Given the description of an element on the screen output the (x, y) to click on. 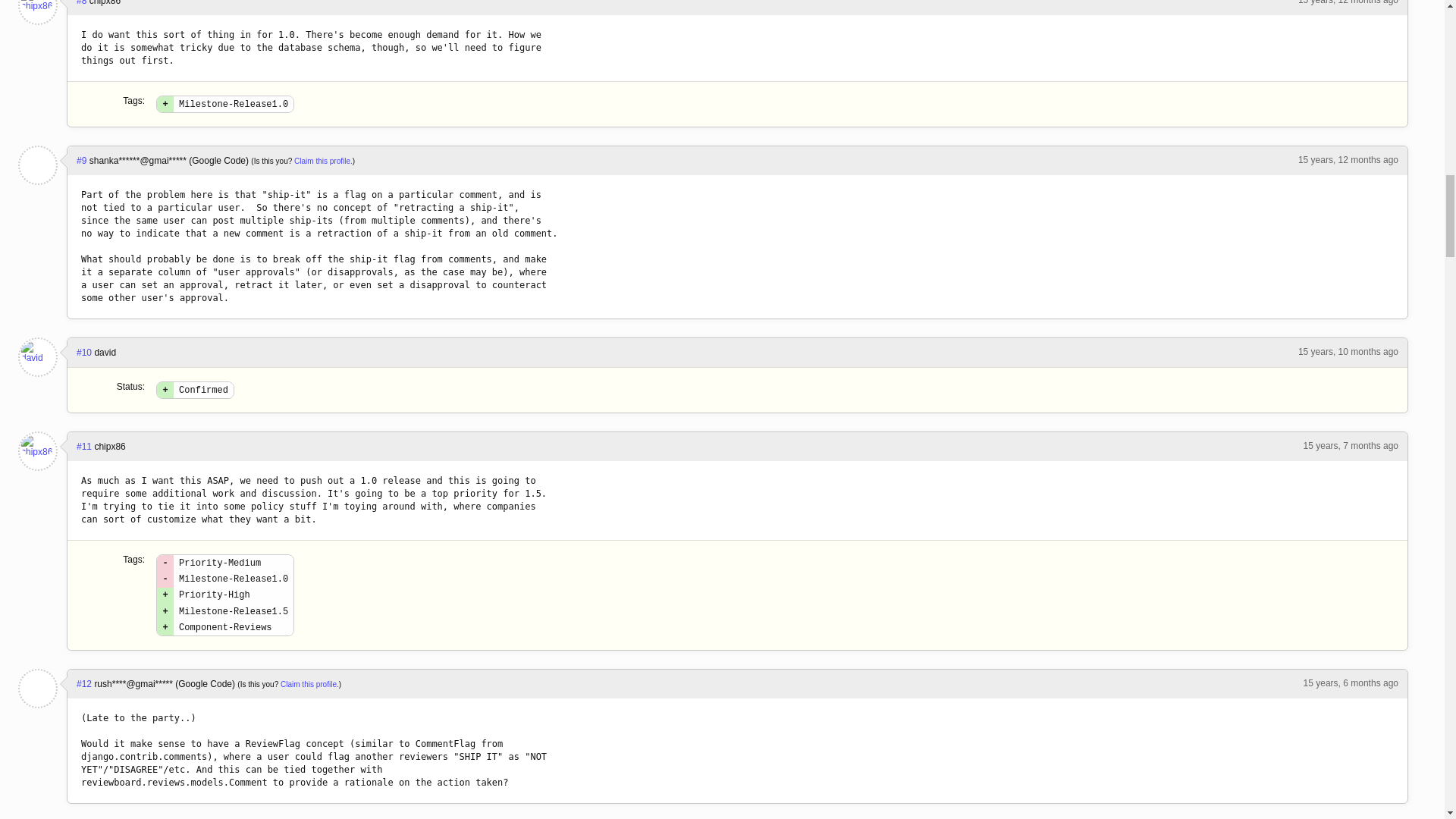
Aug. 20, 2008, 8:40 p.m. (1347, 2)
Feb. 19, 2009, 2:57 a.m. (1350, 683)
Dec. 31, 2008, 8:26 a.m. (1350, 445)
Sept. 28, 2008, 9:07 p.m. (1347, 351)
Aug. 21, 2008, 6:01 p.m. (1347, 159)
